Given the description of an element on the screen output the (x, y) to click on. 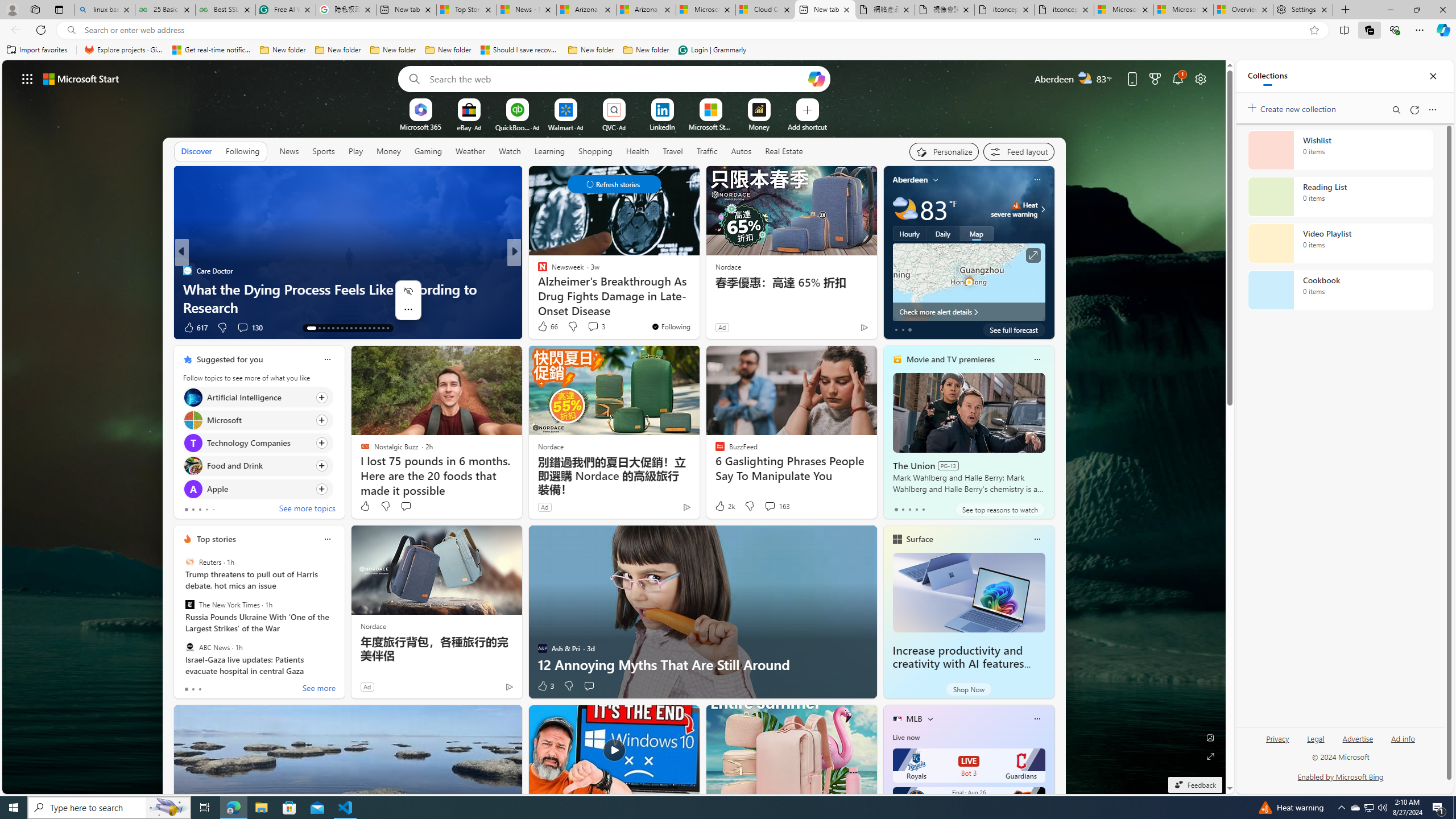
The six weird traits which show you have neanderthal DNA (347, 298)
View comments 163 Comment (776, 505)
Shopping (594, 151)
AutomationID: tab-17 (332, 328)
AutomationID: tab-21 (350, 328)
Surface (919, 538)
News - MSN (527, 9)
Health (637, 151)
View comments 115 Comment (592, 327)
